Given the description of an element on the screen output the (x, y) to click on. 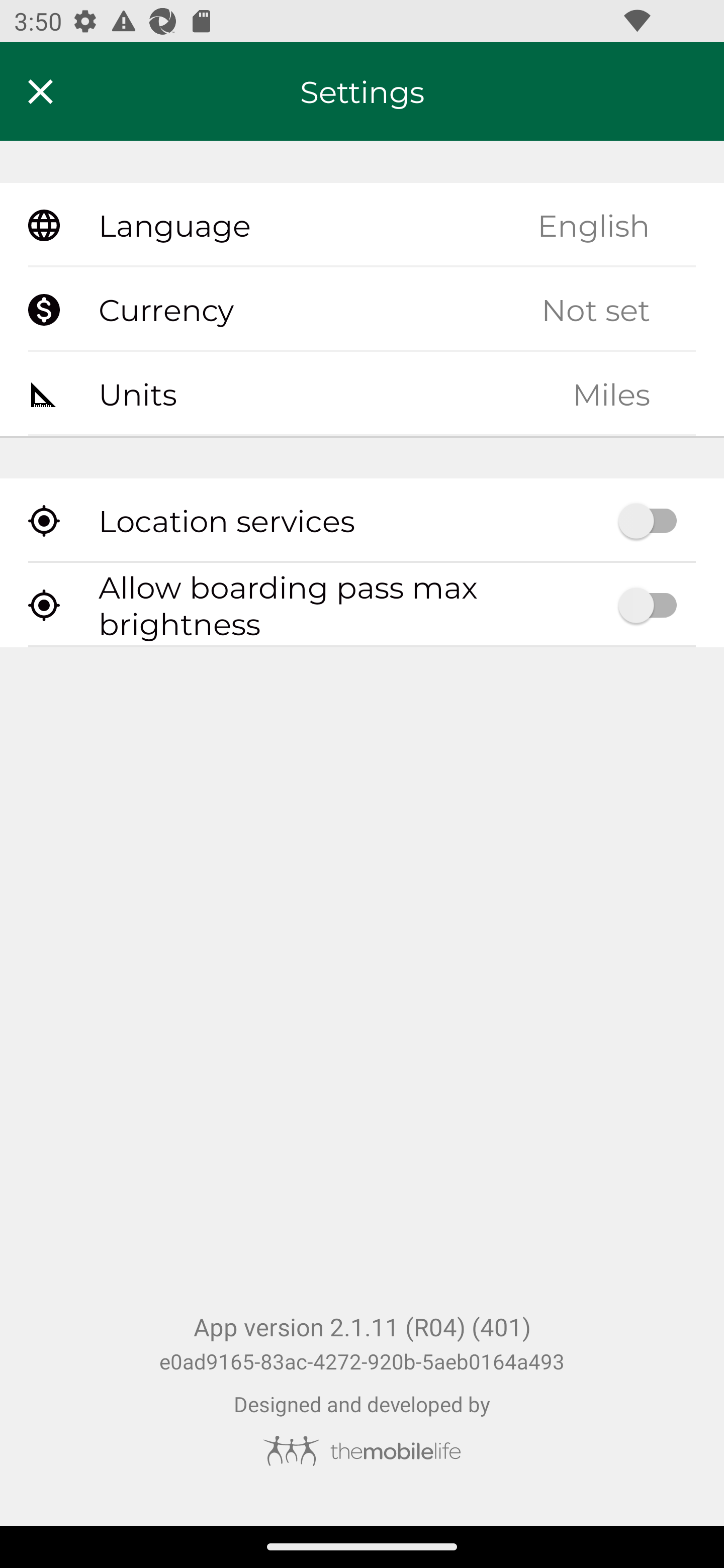
Language English (362, 225)
Currency Not set (362, 309)
Units Miles (362, 393)
Location services (362, 520)
Allow boarding pass max brightness (362, 604)
